Given the description of an element on the screen output the (x, y) to click on. 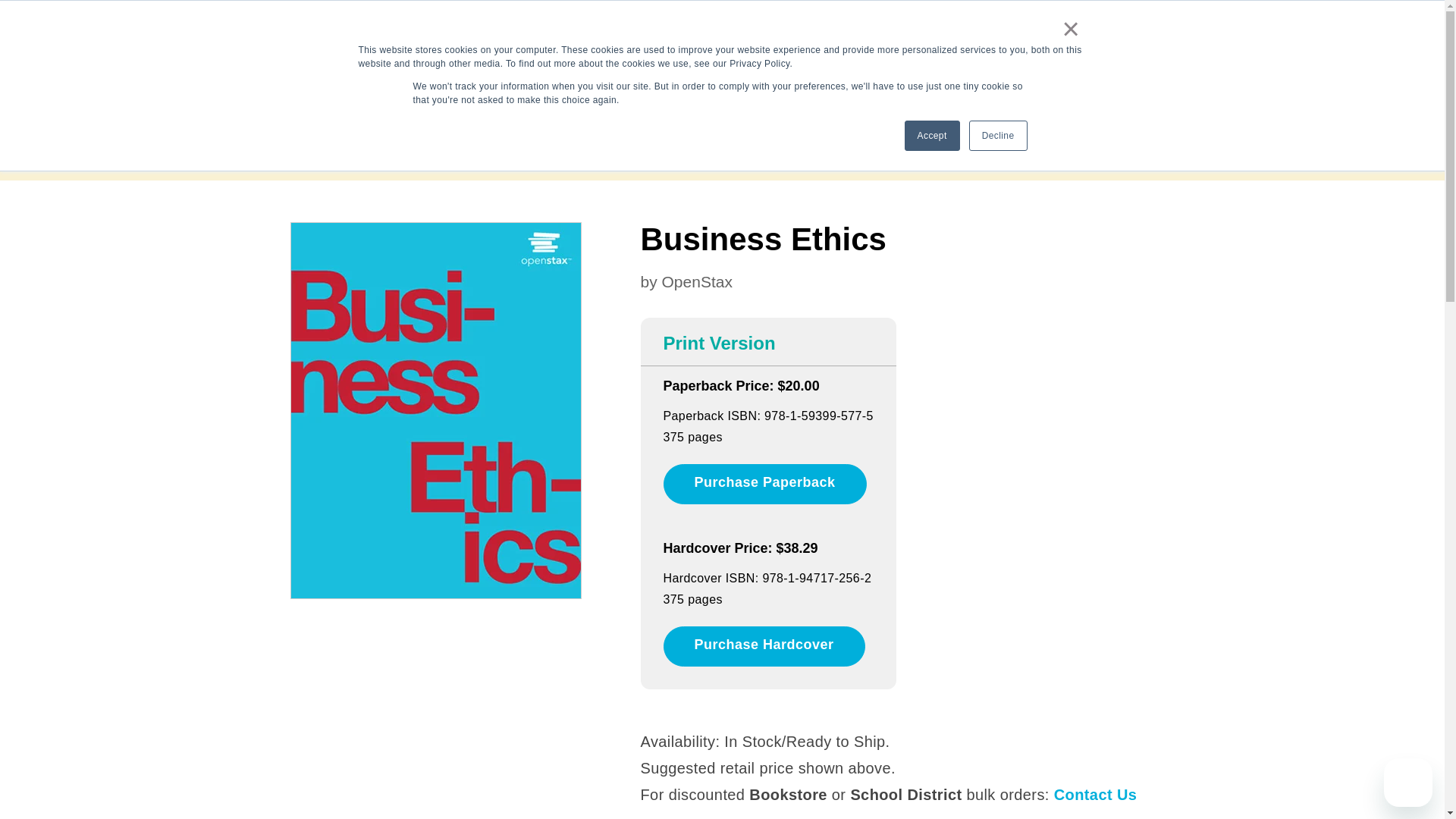
Support (1096, 17)
Accept (931, 135)
Decline (998, 135)
Show submenu for Higher (769, 70)
Show submenu for Resources (853, 70)
Show submenu for Sign in (1048, 17)
Show submenu for Support (1123, 17)
Show submenu for K-12 (690, 70)
Sign in (1023, 17)
